Given the description of an element on the screen output the (x, y) to click on. 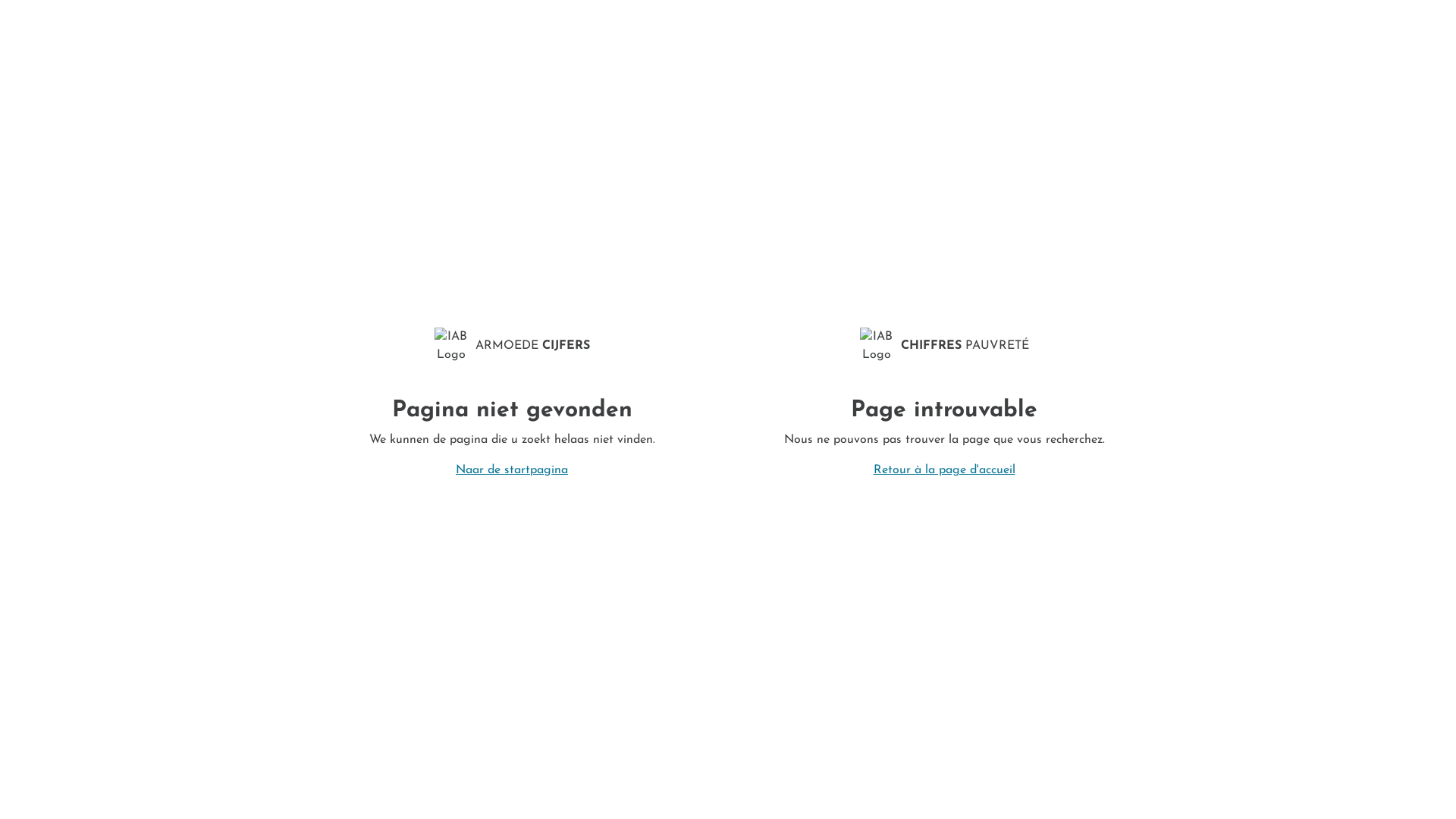
Naar de startpagina Element type: text (511, 470)
